Given the description of an element on the screen output the (x, y) to click on. 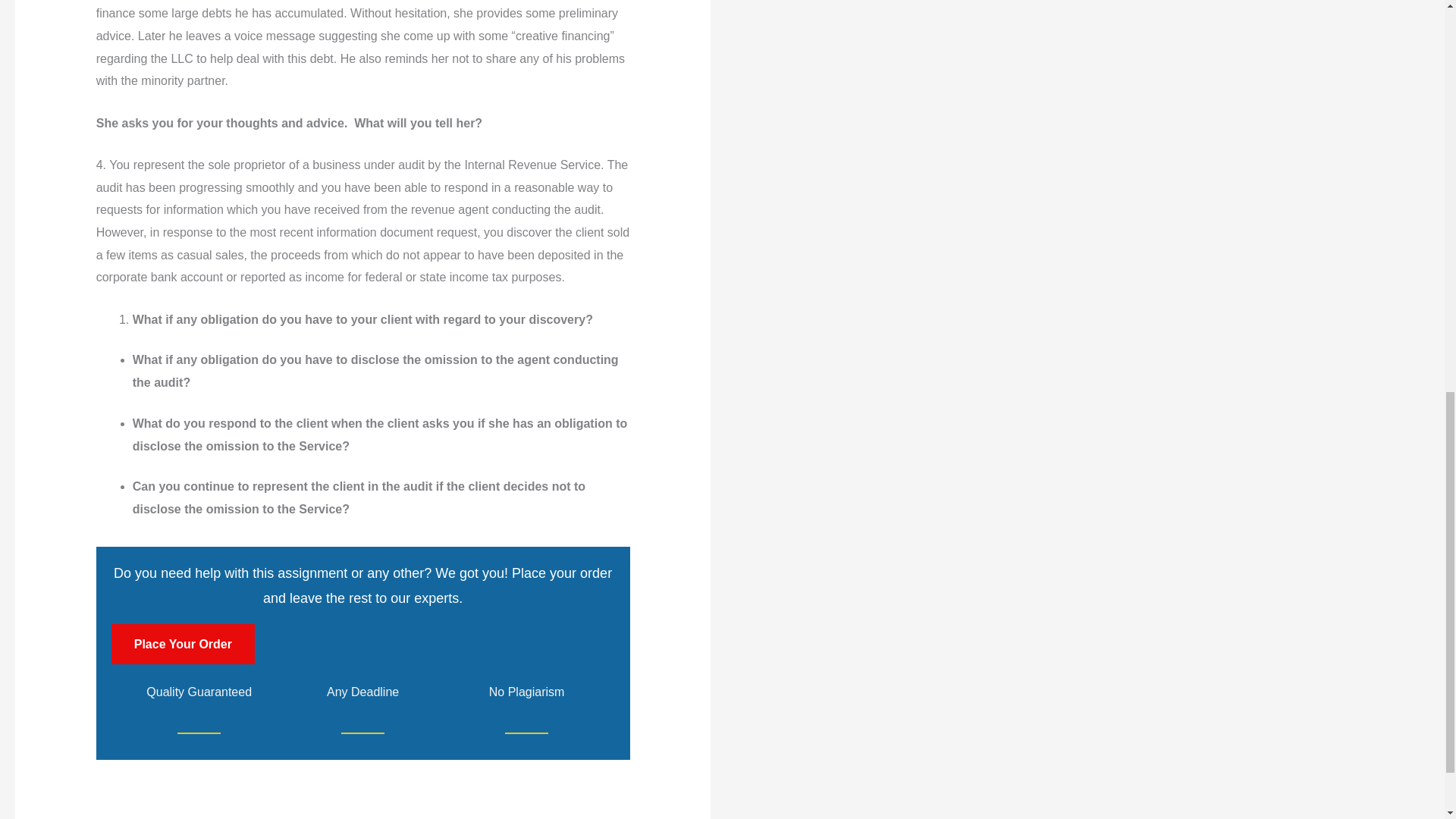
Place Your Order (183, 644)
